Given the description of an element on the screen output the (x, y) to click on. 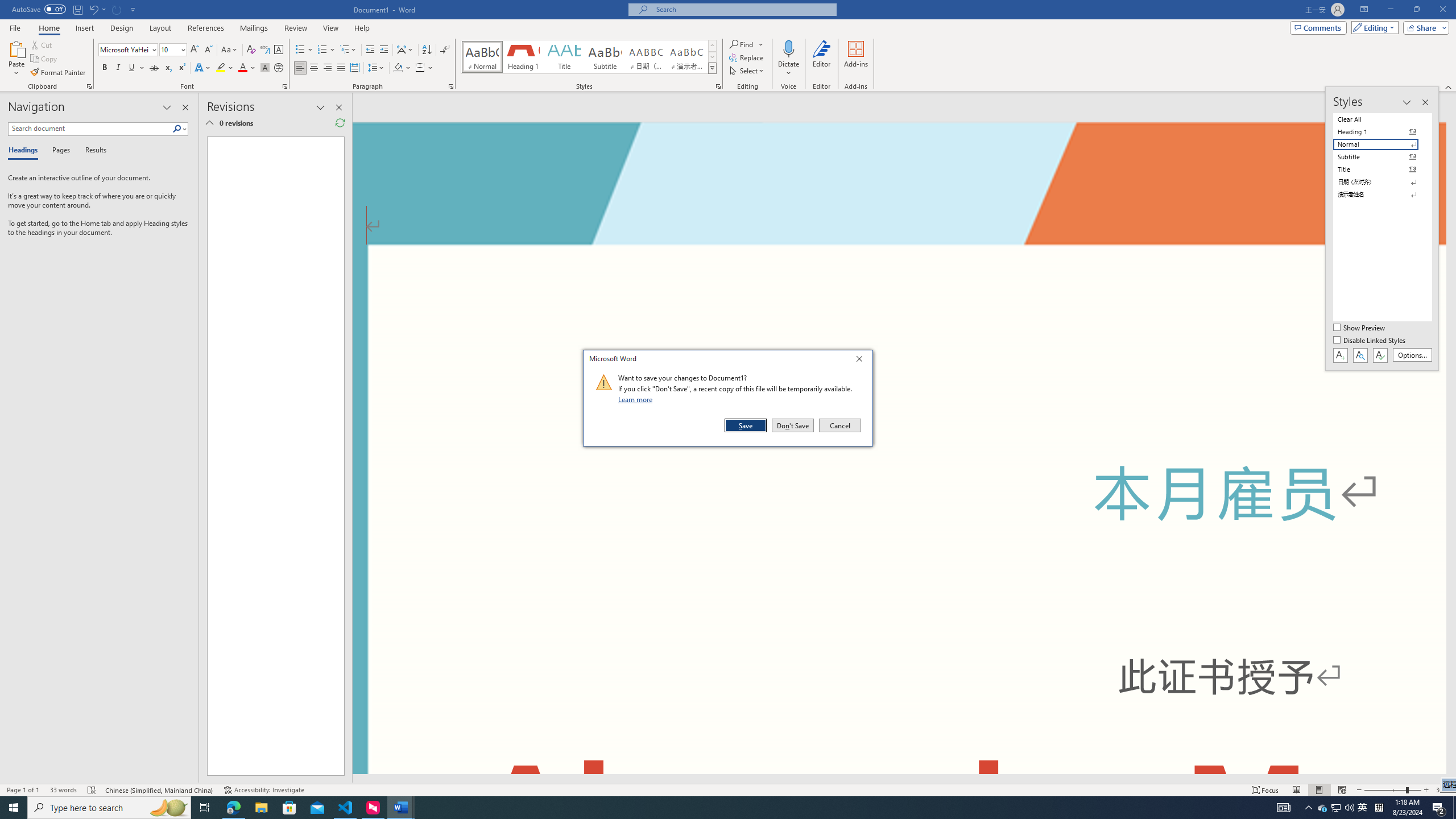
Notification Chevron (1308, 807)
Action Center, 2 new notifications (1439, 807)
Cut (42, 44)
Underline (136, 67)
Heading 1 (522, 56)
Restore Down (1416, 9)
Close (1335, 807)
Font (862, 360)
Line and Paragraph Spacing (124, 49)
Print Layout (376, 67)
Editor (1318, 790)
Styles (821, 58)
Distributed (711, 67)
Q2790: 100% (354, 67)
